Given the description of an element on the screen output the (x, y) to click on. 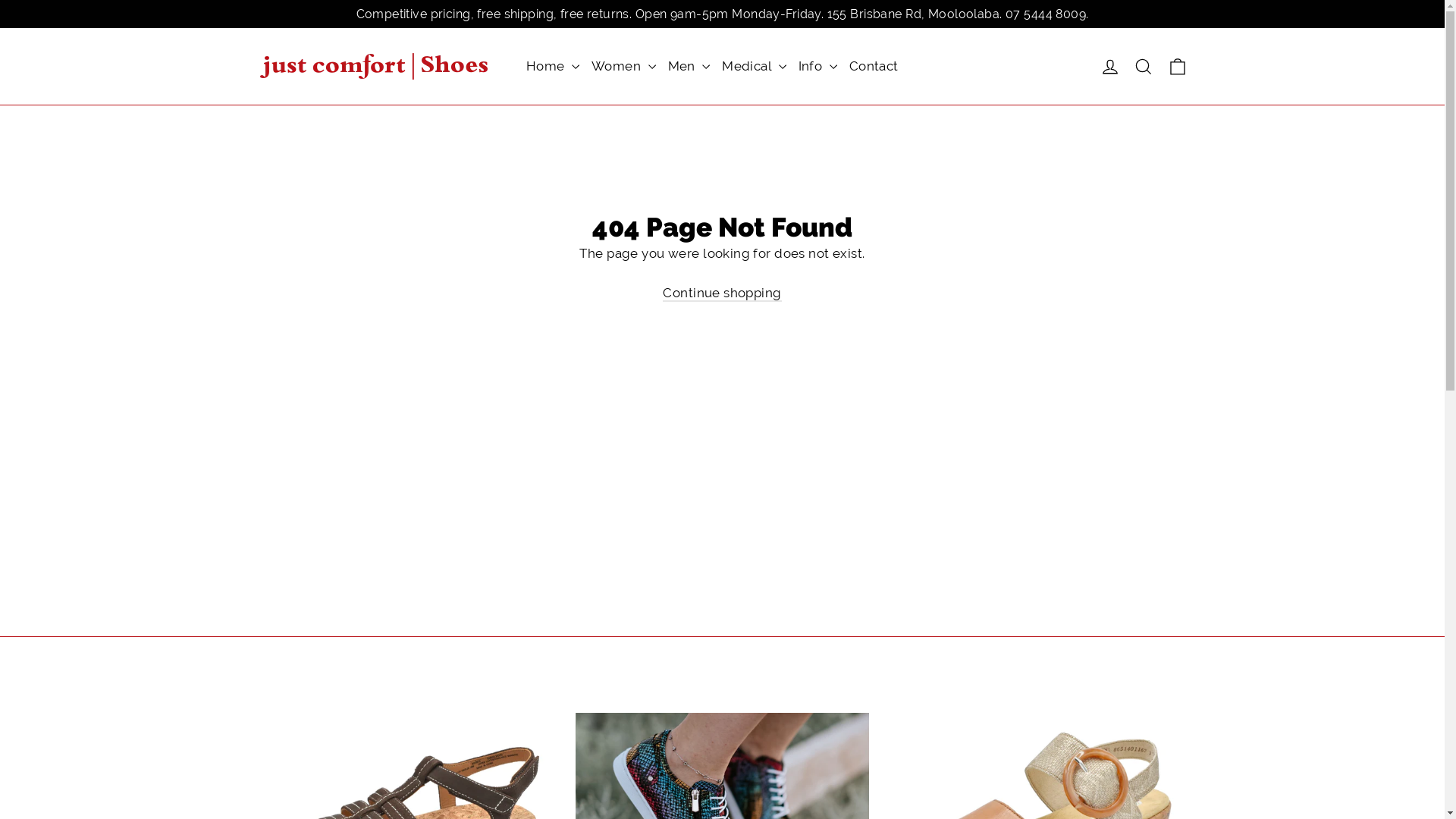
Log in Element type: text (1109, 65)
Contact Element type: text (873, 66)
Home Element type: text (552, 66)
Men Element type: text (689, 66)
Medical Element type: text (753, 66)
Women Element type: text (623, 66)
Skip to content Element type: text (0, 0)
Info Element type: text (817, 66)
Search Element type: text (1143, 65)
Continue shopping Element type: text (721, 293)
Cart Element type: text (1176, 65)
